Given the description of an element on the screen output the (x, y) to click on. 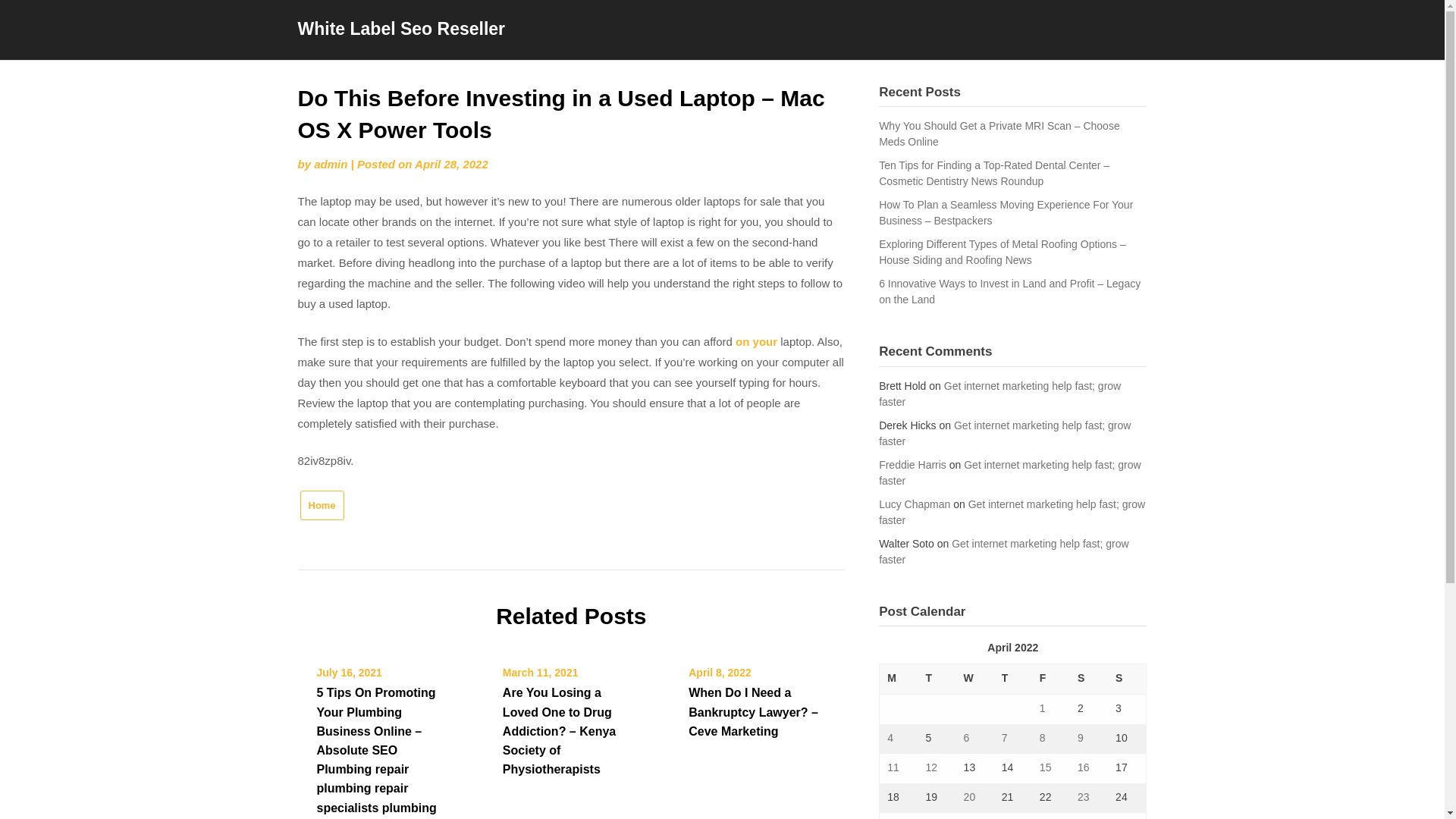
Tuesday (936, 679)
15 (1045, 767)
23 (1083, 797)
11 (892, 767)
Monday (898, 679)
16 (1083, 767)
Sunday (1127, 679)
Get internet marketing help fast; grow faster (1010, 472)
Thursday (1013, 679)
Get internet marketing help fast; grow faster (1005, 433)
